Given the description of an element on the screen output the (x, y) to click on. 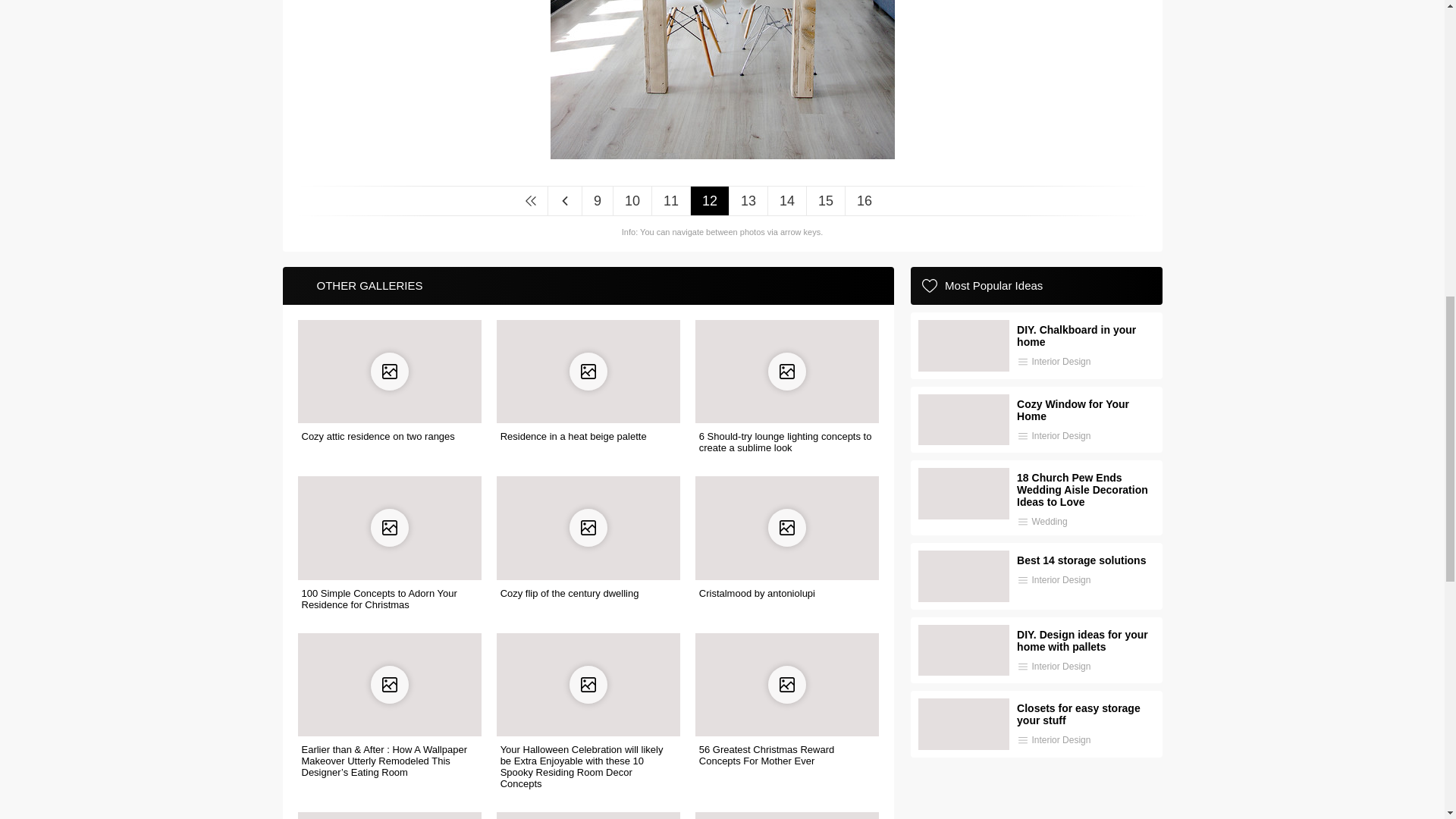
12 (709, 200)
15 (825, 200)
13 (748, 200)
9 (596, 200)
16 (863, 200)
Residence in a heat beige palette (573, 436)
14 (786, 200)
10 (631, 200)
11 (670, 200)
mood-wood-in-your-home-scandinavian-dining-room (722, 153)
